Given the description of an element on the screen output the (x, y) to click on. 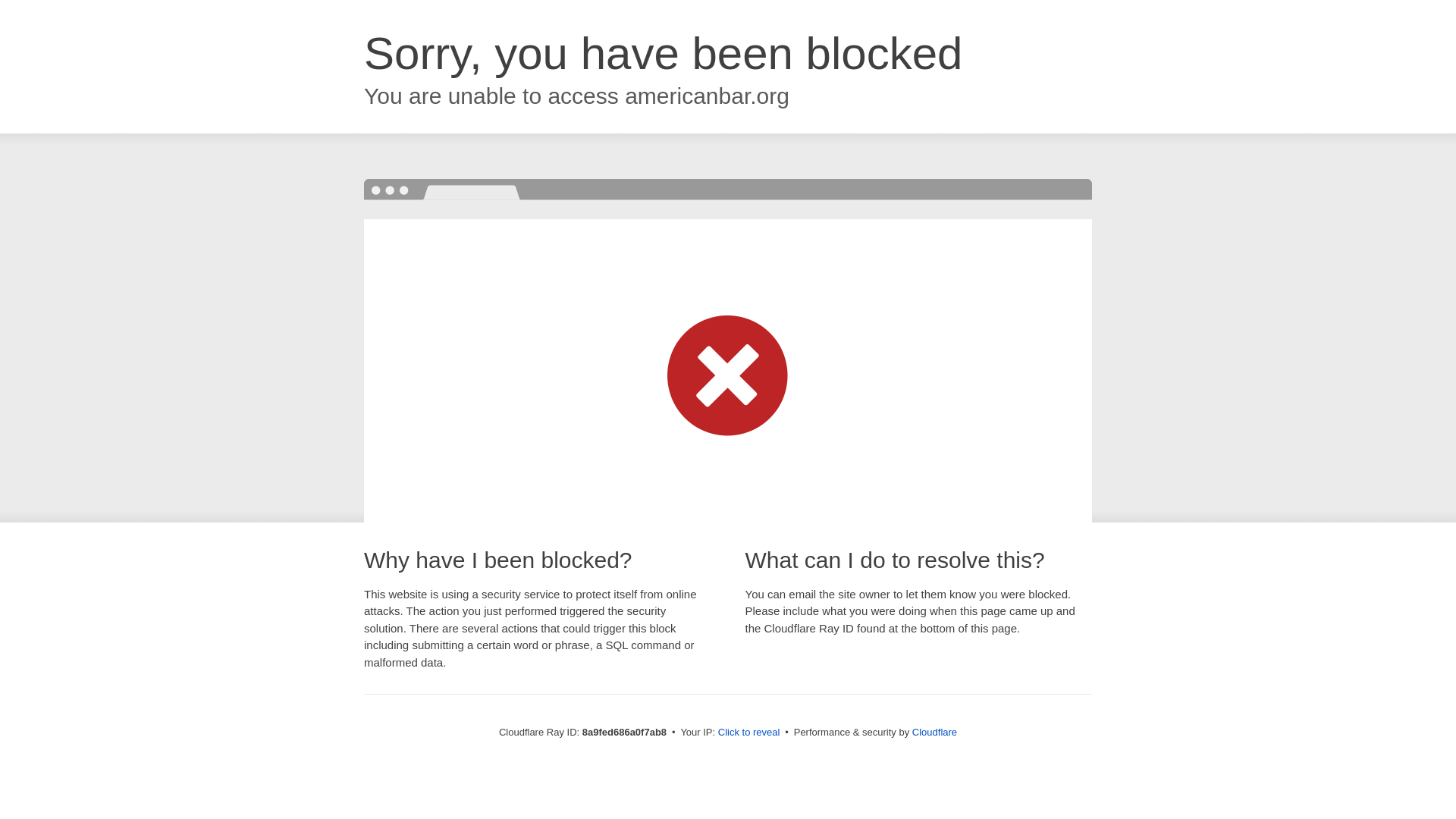
Cloudflare (934, 731)
Click to reveal (748, 732)
